Given the description of an element on the screen output the (x, y) to click on. 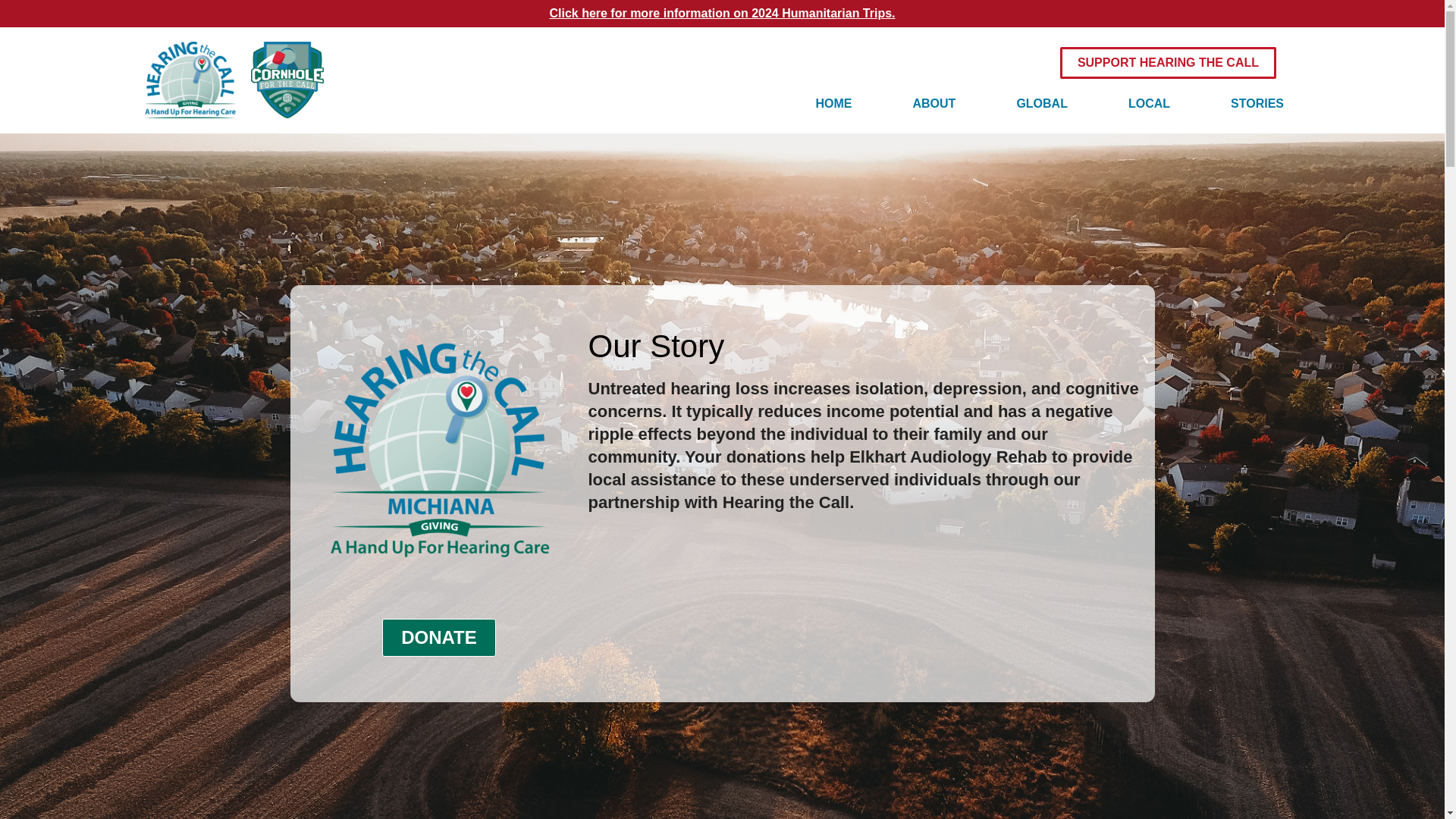
HOME (833, 103)
LOCAL (1149, 103)
SUPPORT HEARING THE CALL (1167, 62)
STORIES (1256, 103)
DONATE (438, 637)
GLOBAL (1042, 103)
ABOUT (934, 103)
Click here for more information on 2024 Humanitarian Trips. (721, 12)
